Given the description of an element on the screen output the (x, y) to click on. 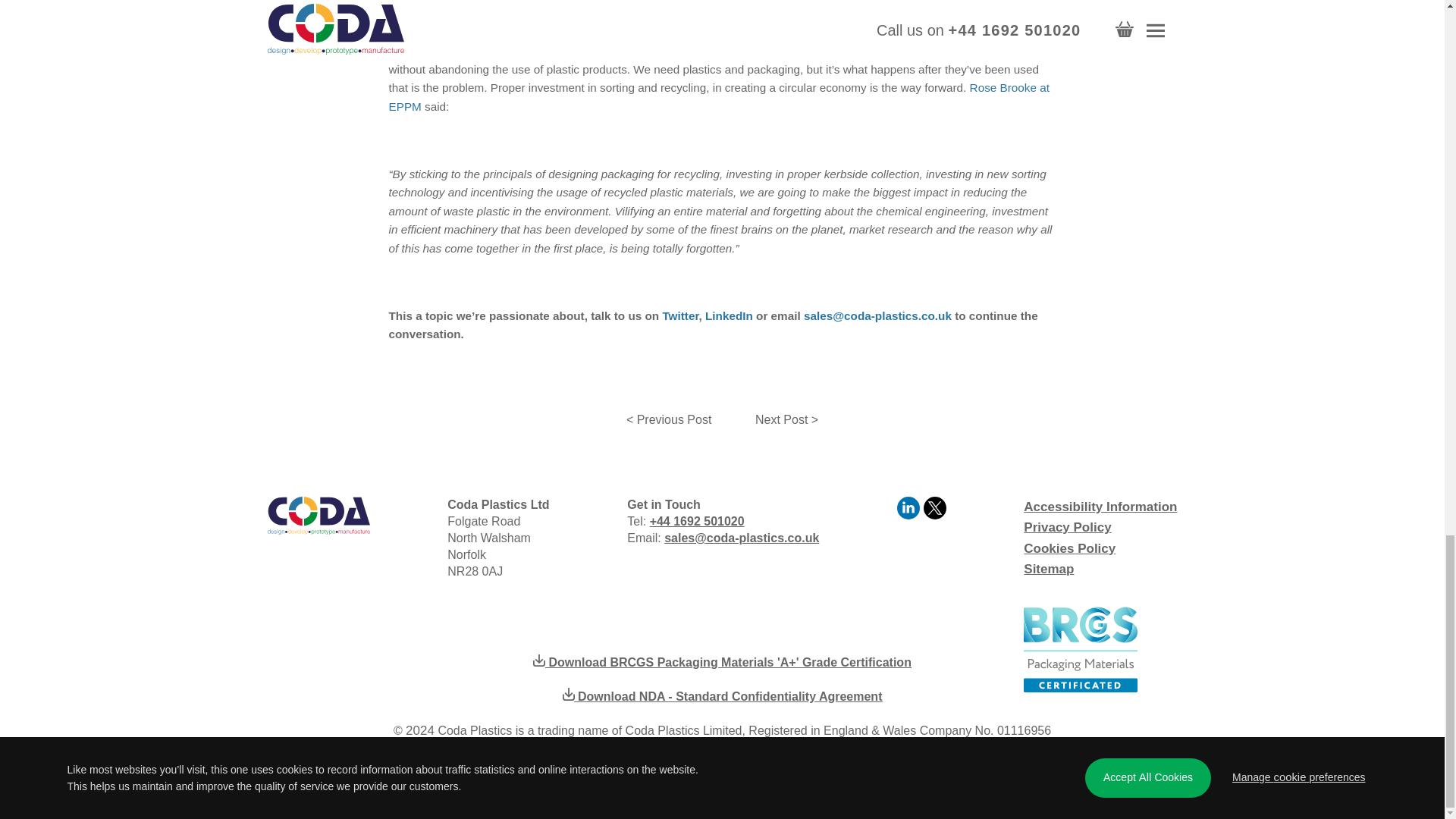
Twitter (680, 315)
Sitemap (1048, 568)
Cookies Policy (1069, 548)
Cookies Policy (1069, 548)
Rose Brooke at EPPM (718, 96)
A History of Vinyl: The Plastic of Pop (667, 420)
LinkedIn (728, 315)
How Plastic Innovations Have Changed the World (786, 420)
Download NDA - Standard Confidentiality Agreement (722, 696)
Privacy Policy (1066, 527)
Privacy Policy (1066, 527)
Accessibility (1099, 506)
Accessibility Information (1099, 506)
LinkedIn (909, 514)
Sitemap (1048, 568)
